Given the description of an element on the screen output the (x, y) to click on. 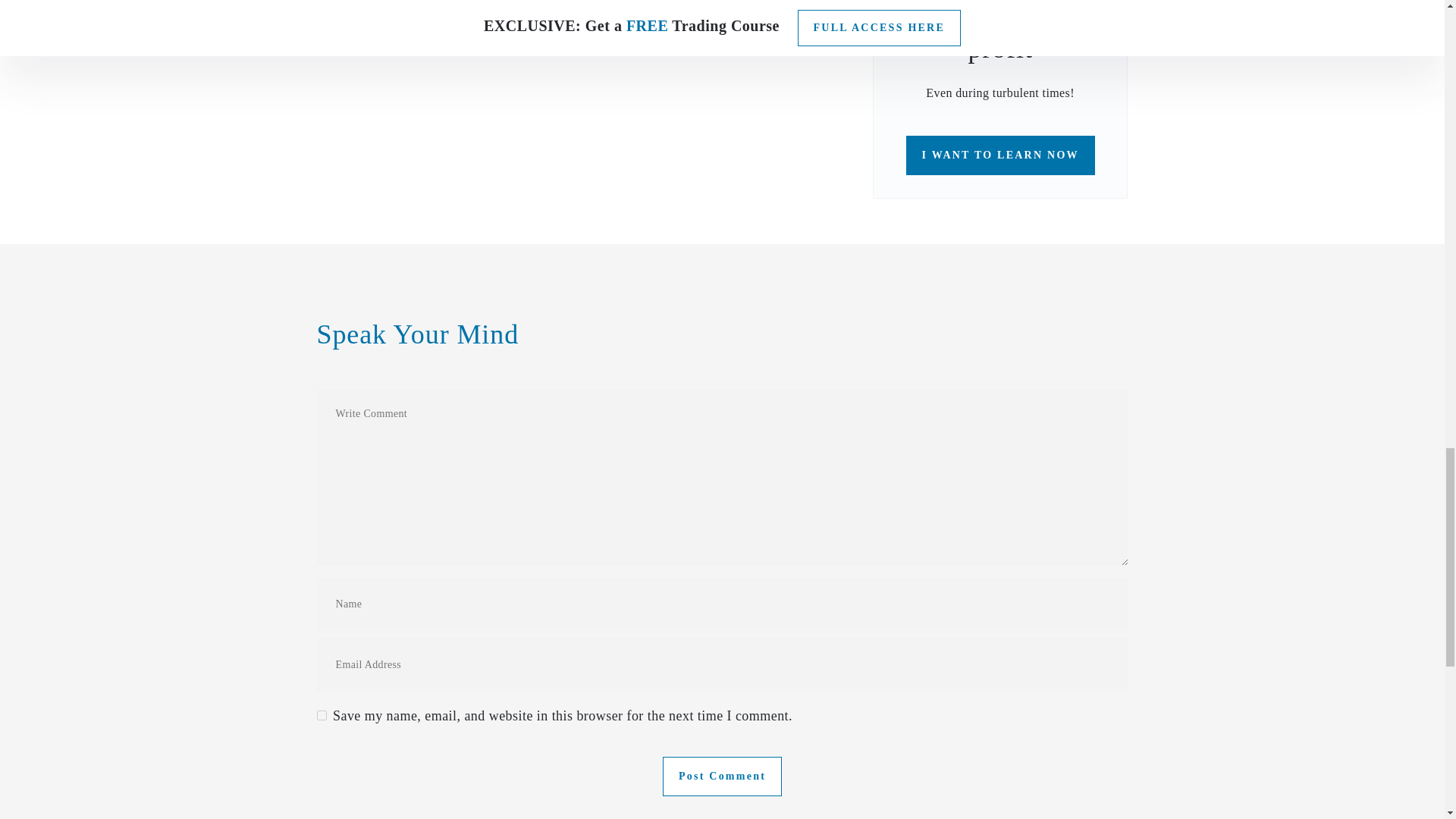
Post Comment (721, 776)
yes (321, 715)
